Given the description of an element on the screen output the (x, y) to click on. 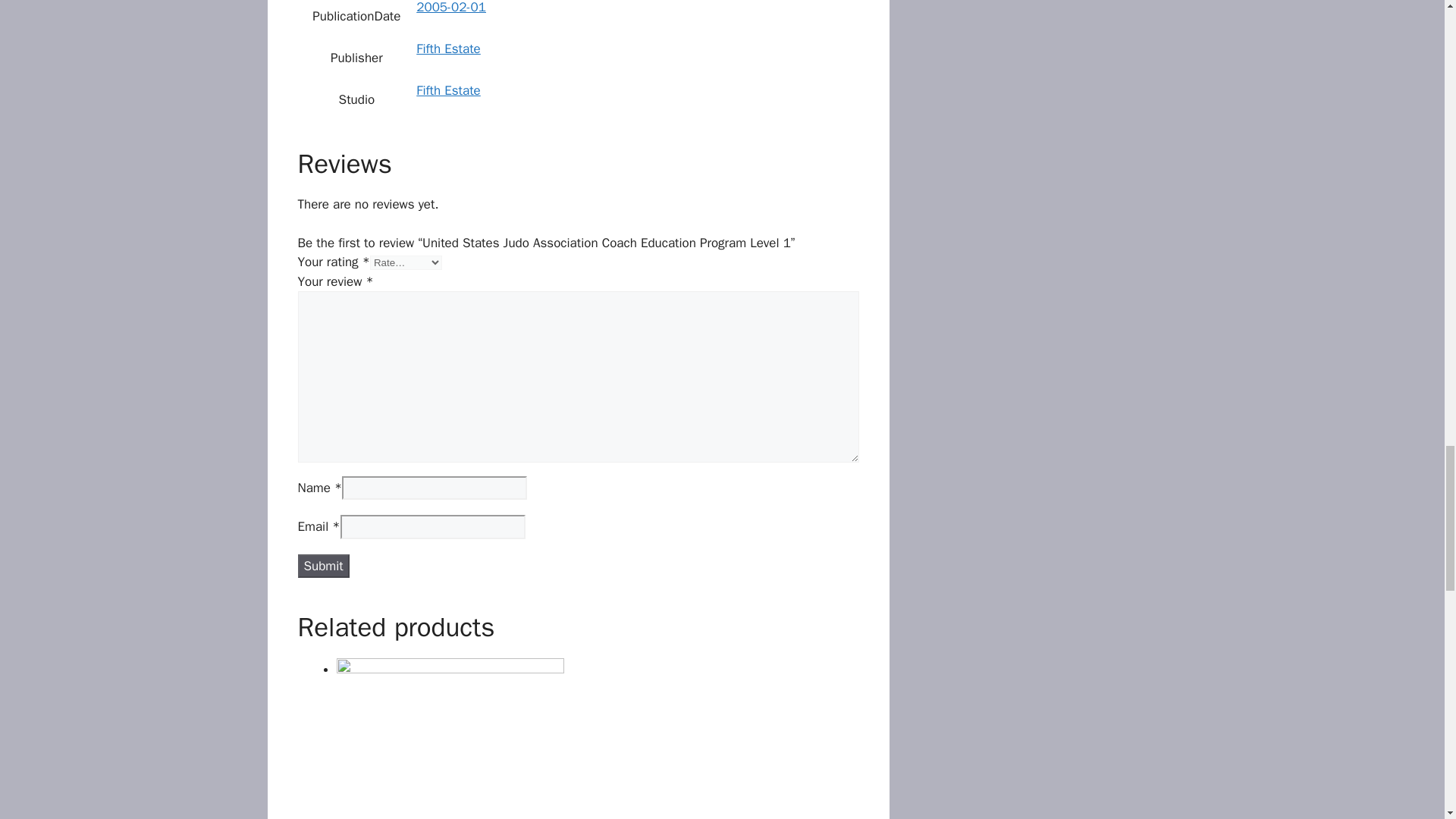
Submit (323, 566)
